Given the description of an element on the screen output the (x, y) to click on. 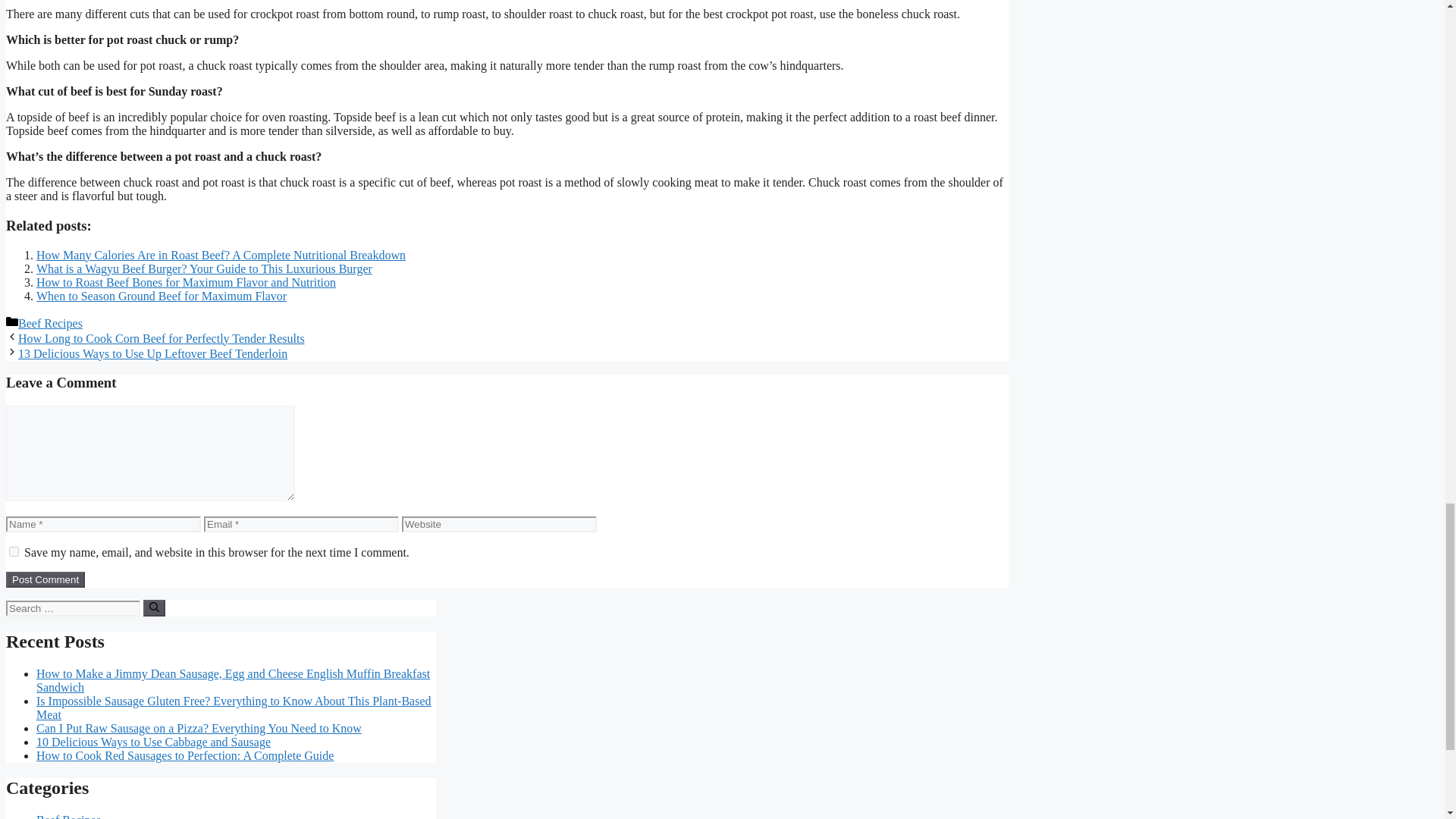
When to Season Ground Beef for Maximum Flavor (161, 295)
How to Roast Beef Bones for Maximum Flavor and Nutrition (186, 282)
13 Delicious Ways to Use Up Leftover Beef Tenderloin (151, 353)
Beef Recipes (49, 323)
How to Roast Beef Bones for Maximum Flavor and Nutrition (186, 282)
10 Delicious Ways to Use Cabbage and Sausage (153, 741)
How Long to Cook Corn Beef for Perfectly Tender Results (160, 338)
How to Cook Red Sausages to Perfection: A Complete Guide (184, 755)
Beef Recipes (68, 816)
When to Season Ground Beef for Maximum Flavor (161, 295)
Search for: (72, 608)
Post Comment (44, 579)
